Given the description of an element on the screen output the (x, y) to click on. 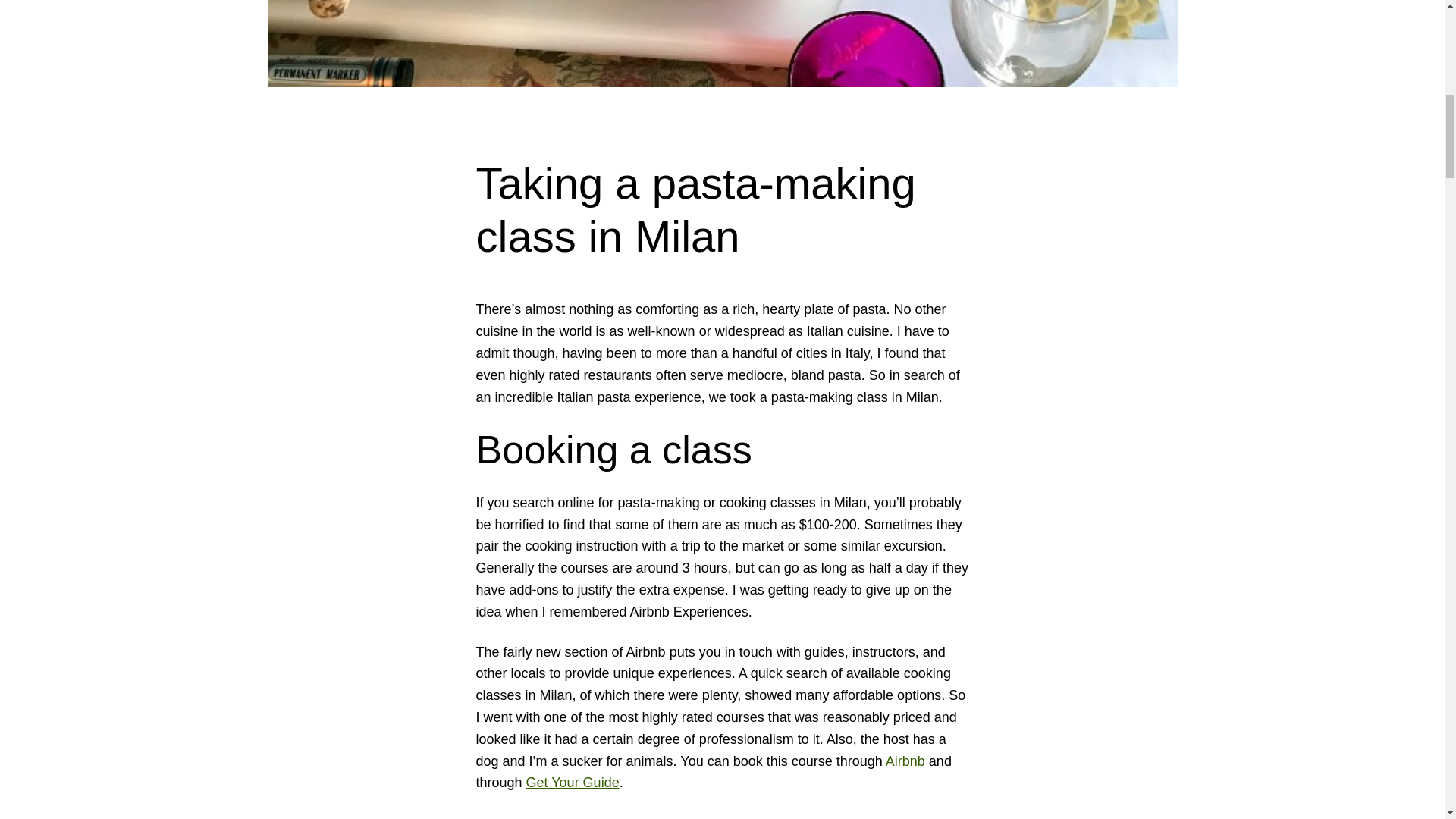
Get Your Guide (572, 782)
Airbnb (904, 761)
